Given the description of an element on the screen output the (x, y) to click on. 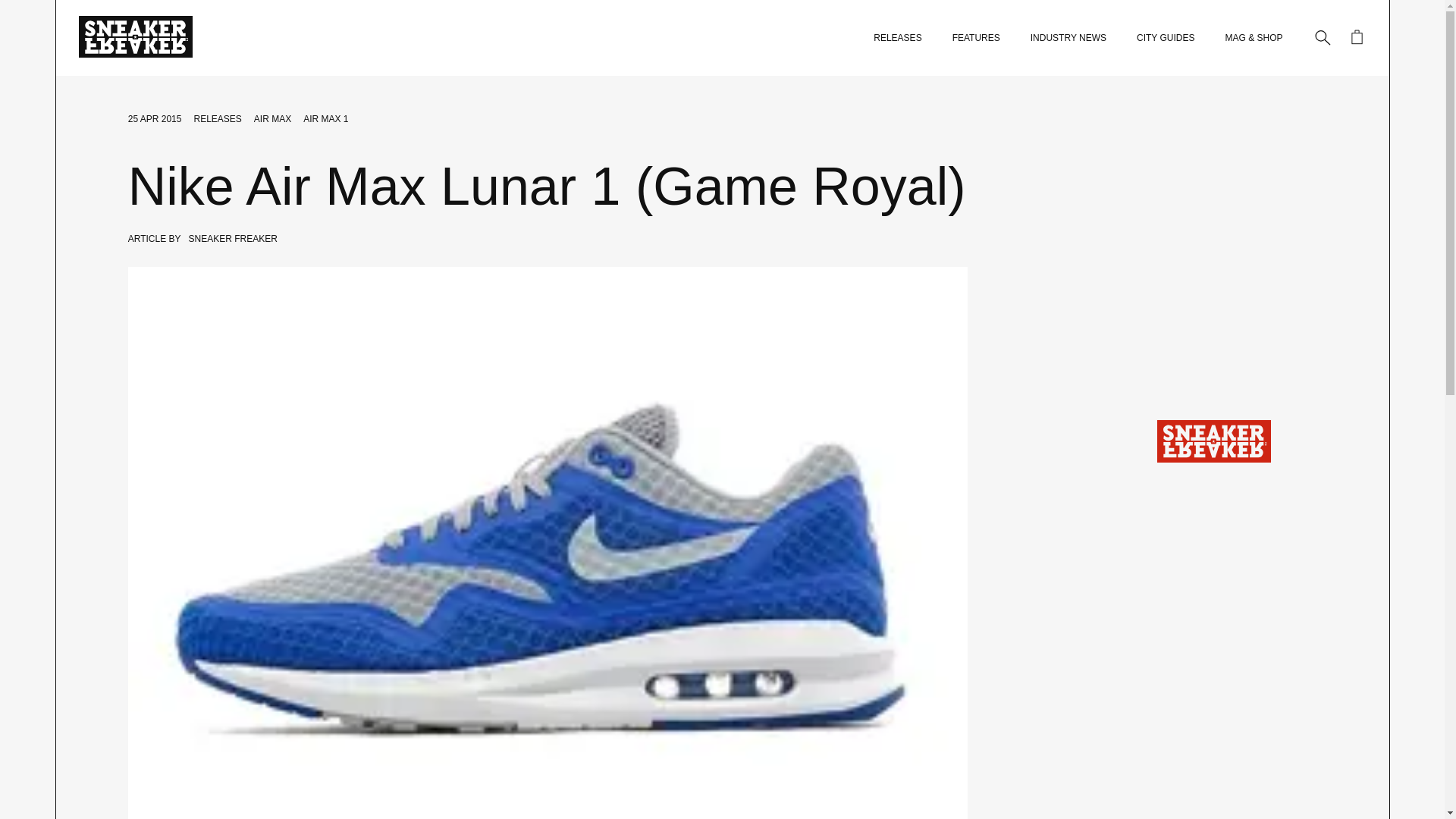
AIR MAX 1 (324, 118)
FEATURES (976, 37)
INDUSTRY NEWS (1068, 37)
AIR MAX (272, 118)
RELEASES (217, 118)
CITY GUIDES (1165, 37)
RELEASES (897, 37)
